Given the description of an element on the screen output the (x, y) to click on. 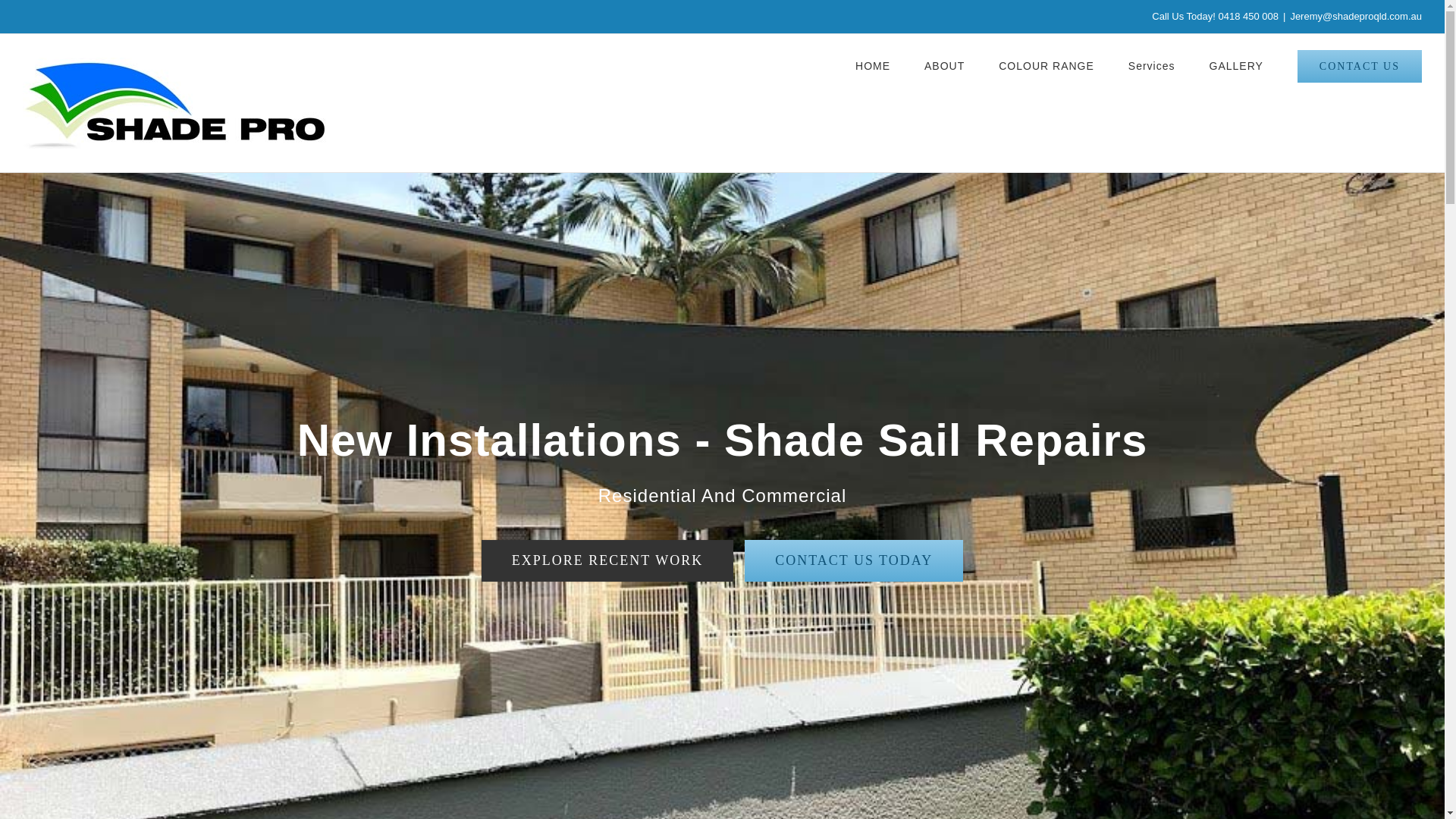
CONTACT US TODAY (853, 560)
COLOUR RANGE (1046, 65)
EXPLORE RECENT WORK (607, 560)
CONTACT US (1359, 65)
